Given the description of an element on the screen output the (x, y) to click on. 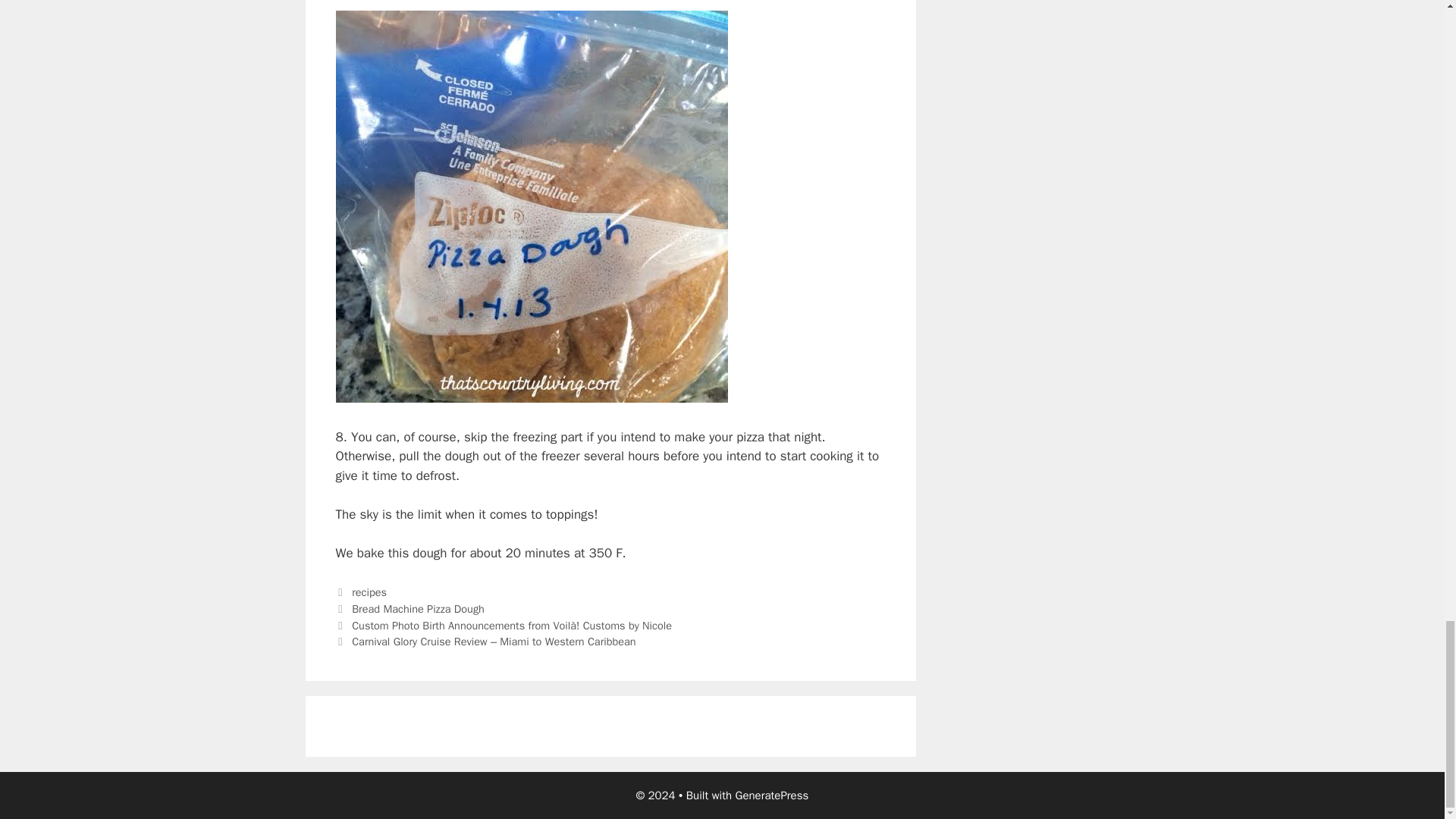
Previous (502, 625)
GeneratePress (772, 795)
Bread Machine Pizza Dough (418, 608)
recipes (369, 591)
Next (484, 641)
